Given the description of an element on the screen output the (x, y) to click on. 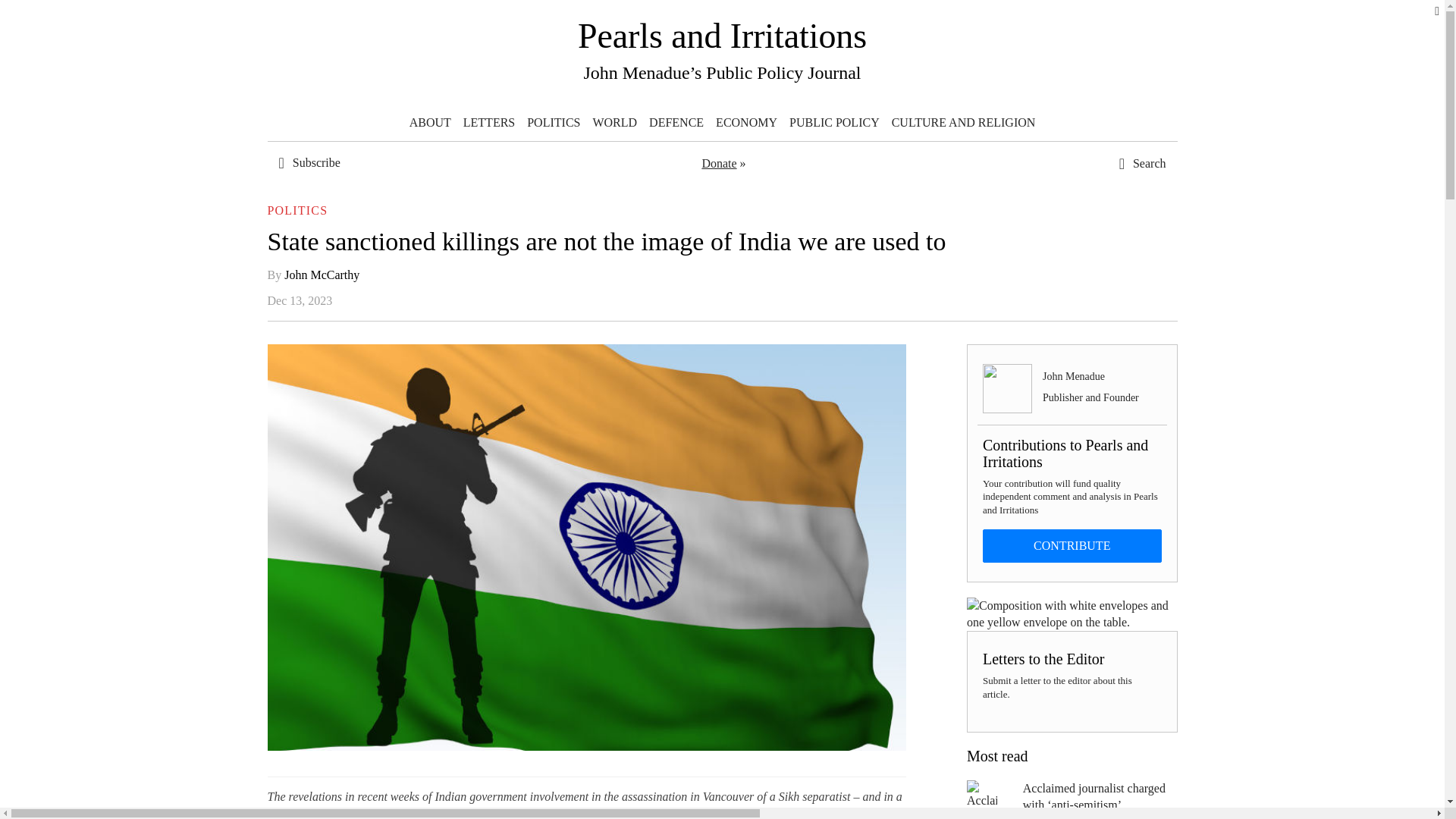
Politics (553, 122)
DEFENCE (676, 122)
Search (1106, 283)
World (614, 122)
LETTERS (489, 122)
About (430, 122)
POLITICS (553, 122)
WORLD (614, 122)
ECONOMY (746, 122)
ABOUT (430, 122)
